Given the description of an element on the screen output the (x, y) to click on. 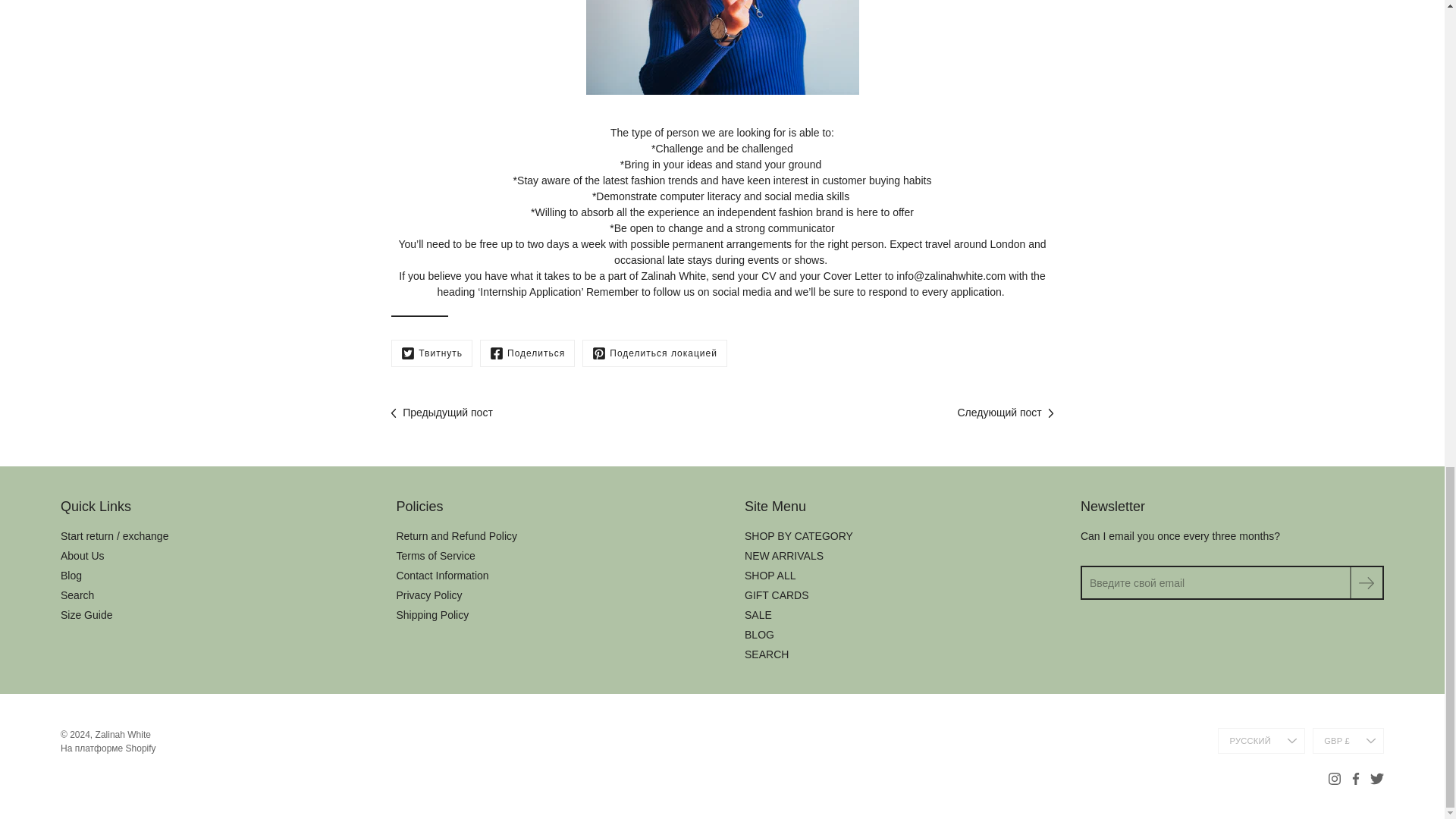
Pinterest (654, 352)
Facebook (527, 352)
Twitter (431, 352)
